Given the description of an element on the screen output the (x, y) to click on. 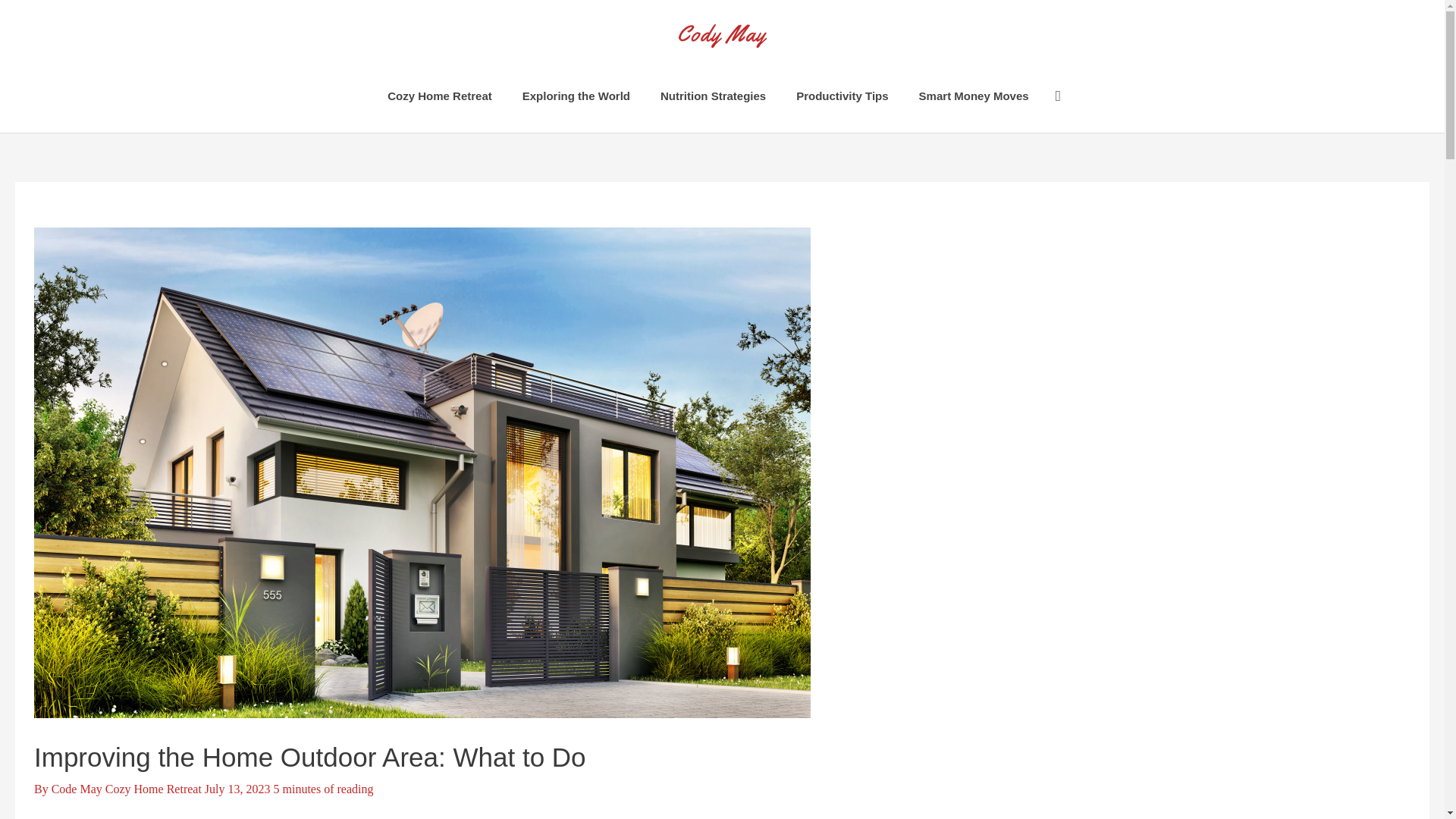
Smart Money Moves (973, 95)
Exploring the World (575, 95)
Cozy Home Retreat (439, 95)
Code May (77, 788)
Nutrition Strategies (712, 95)
Cozy Home Retreat (153, 788)
View all posts by Code May (77, 788)
Productivity Tips (841, 95)
